Given the description of an element on the screen output the (x, y) to click on. 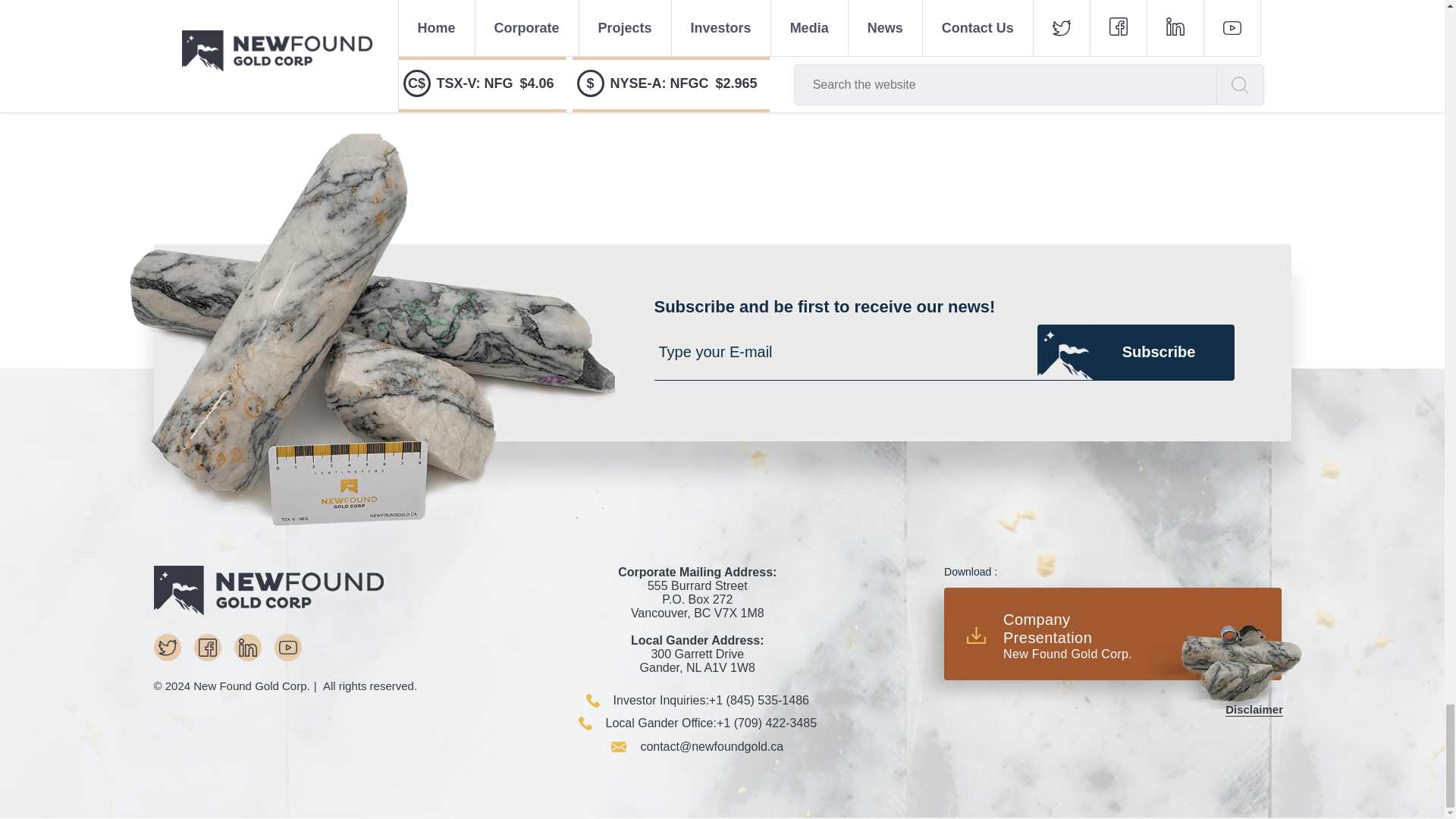
PREVIOUS (550, 97)
Subscribe (1135, 352)
NEXT (909, 97)
